Given the description of an element on the screen output the (x, y) to click on. 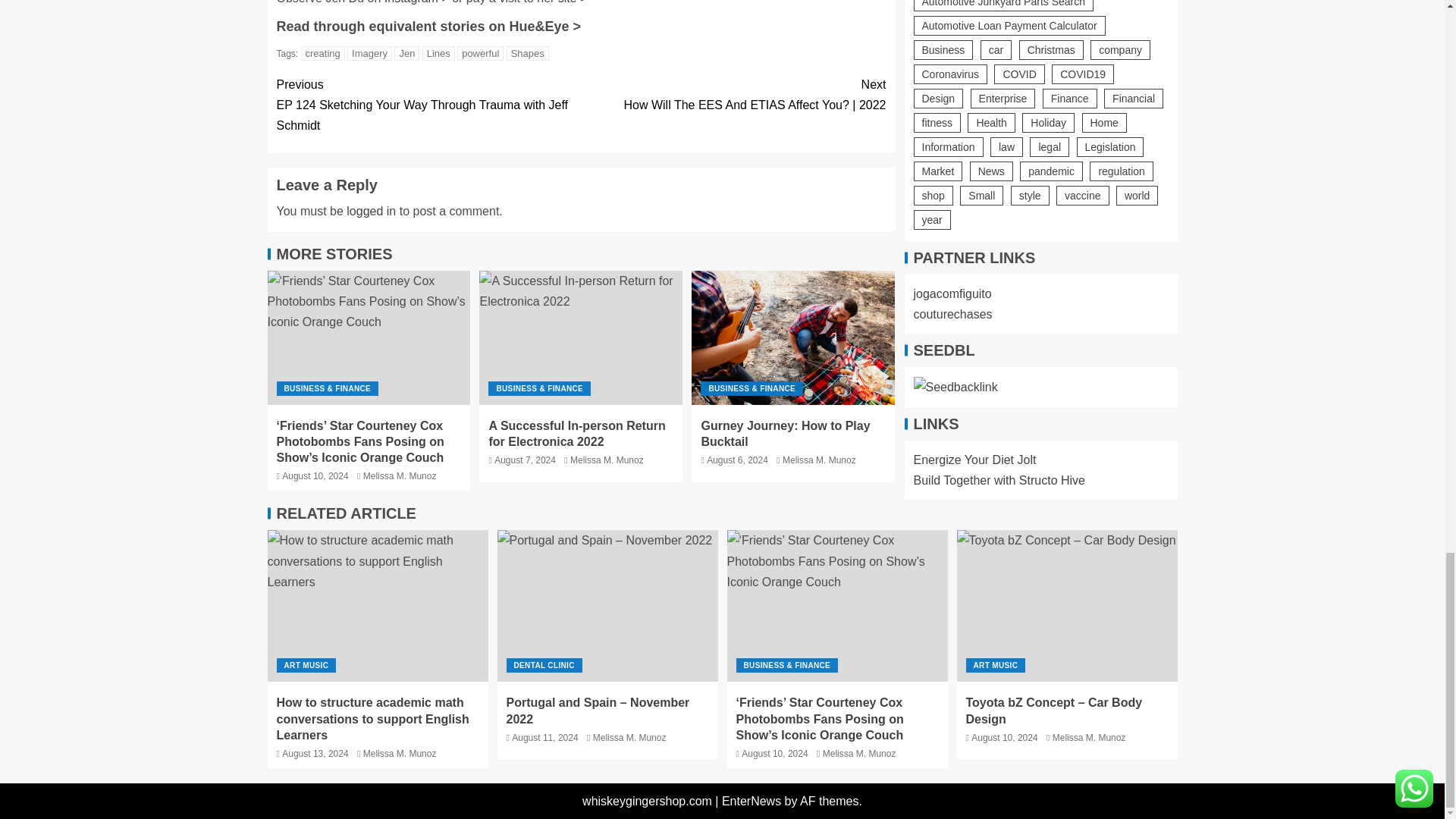
creating (323, 52)
Gurney Journey: How to Play Bucktail (793, 337)
Imagery (369, 52)
A Successful In-person Return for Electronica 2022 (580, 337)
Jen (406, 52)
